Given the description of an element on the screen output the (x, y) to click on. 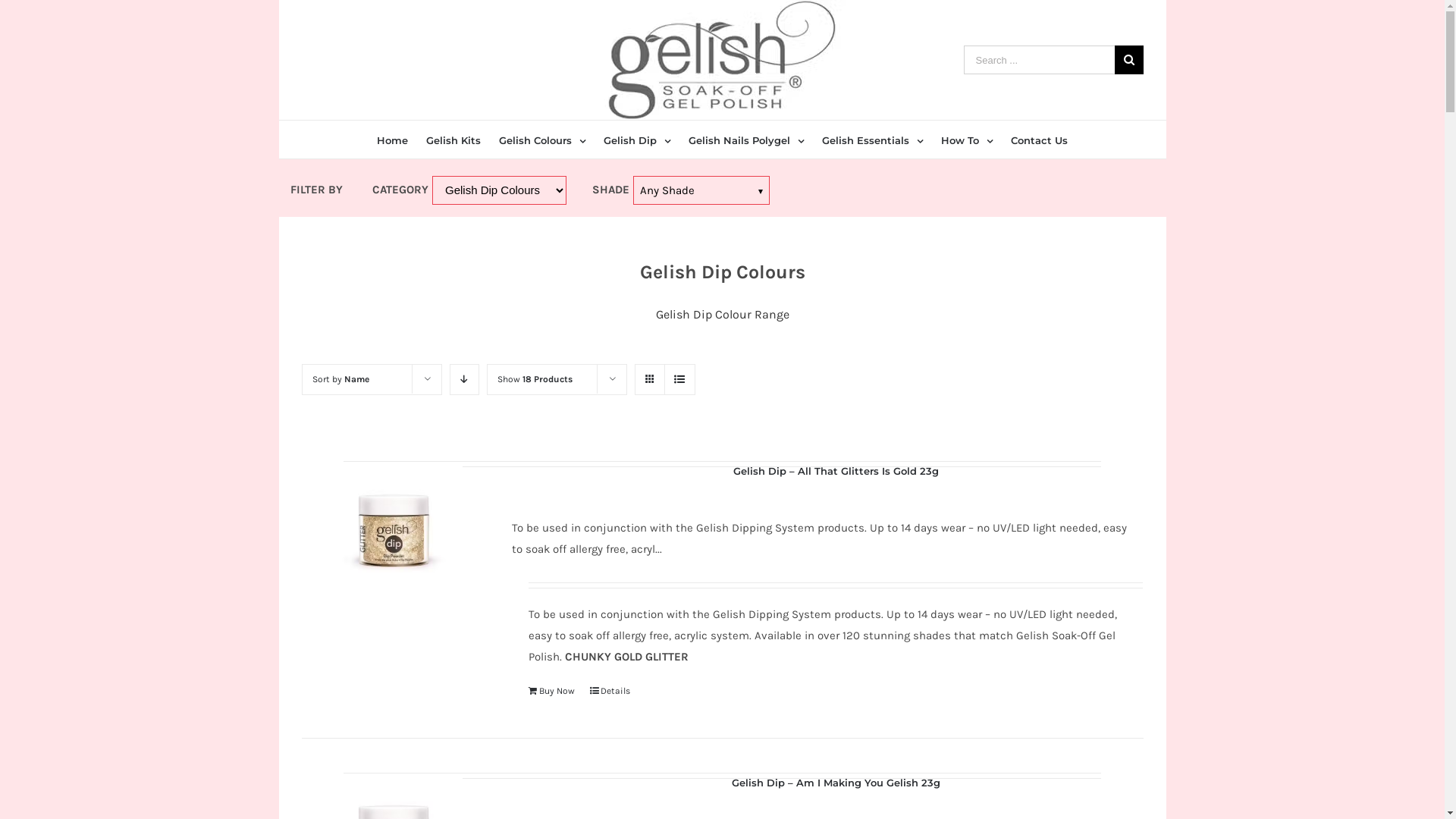
Gelish Kits Element type: text (453, 139)
Buy Now Element type: text (551, 690)
Gelish Colours Element type: text (541, 139)
Gelish Nails Polygel Element type: text (745, 139)
Sort by Name Element type: text (340, 378)
Contact Us Element type: text (1038, 139)
Gelish Dip Element type: text (636, 139)
Details Element type: text (609, 690)
Home Element type: text (391, 139)
How To Element type: text (966, 139)
Show 18 Products Element type: text (534, 378)
Gelish Essentials Element type: text (872, 139)
